Given the description of an element on the screen output the (x, y) to click on. 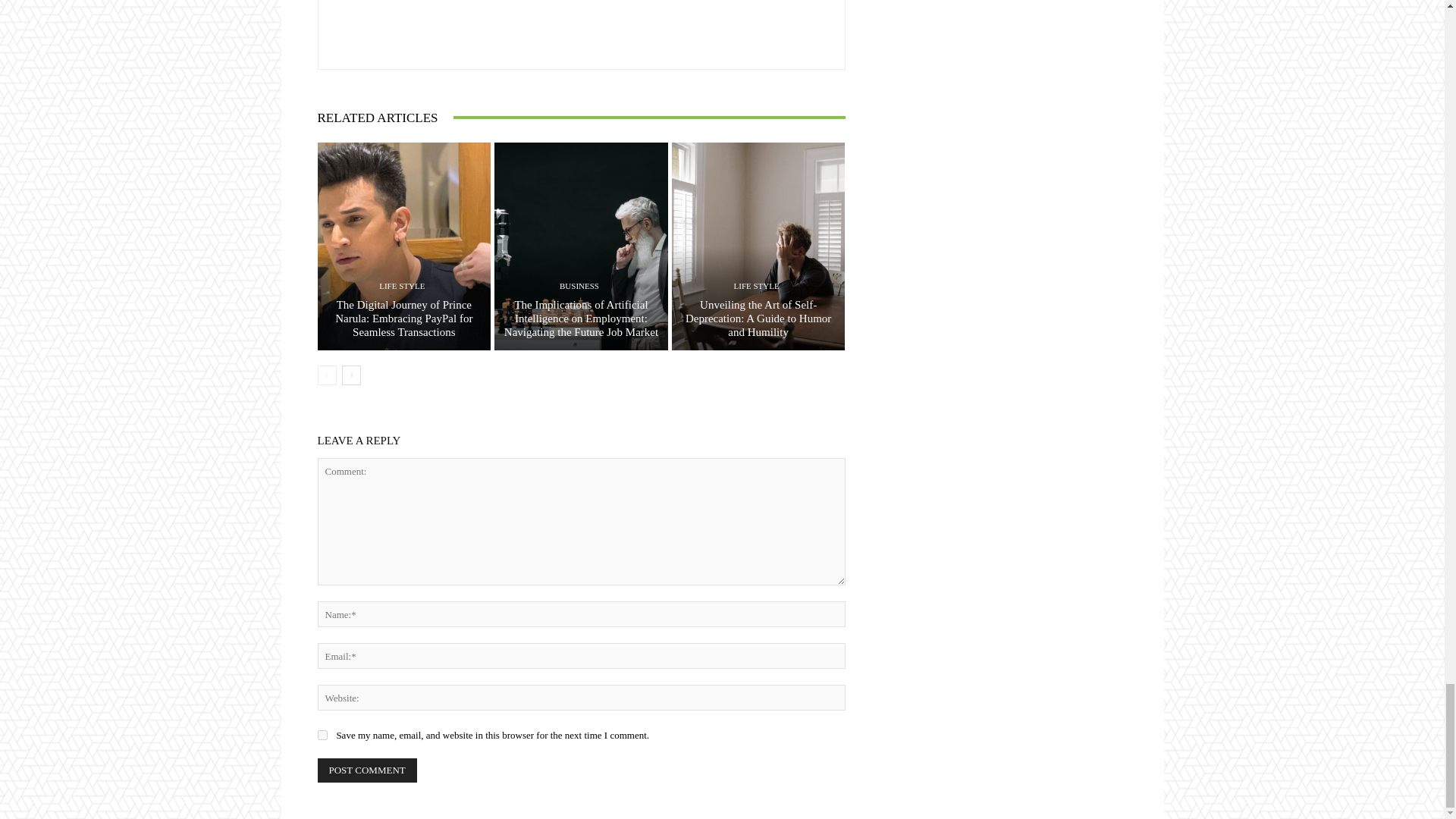
yes (321, 735)
Post Comment (366, 770)
